Given the description of an element on the screen output the (x, y) to click on. 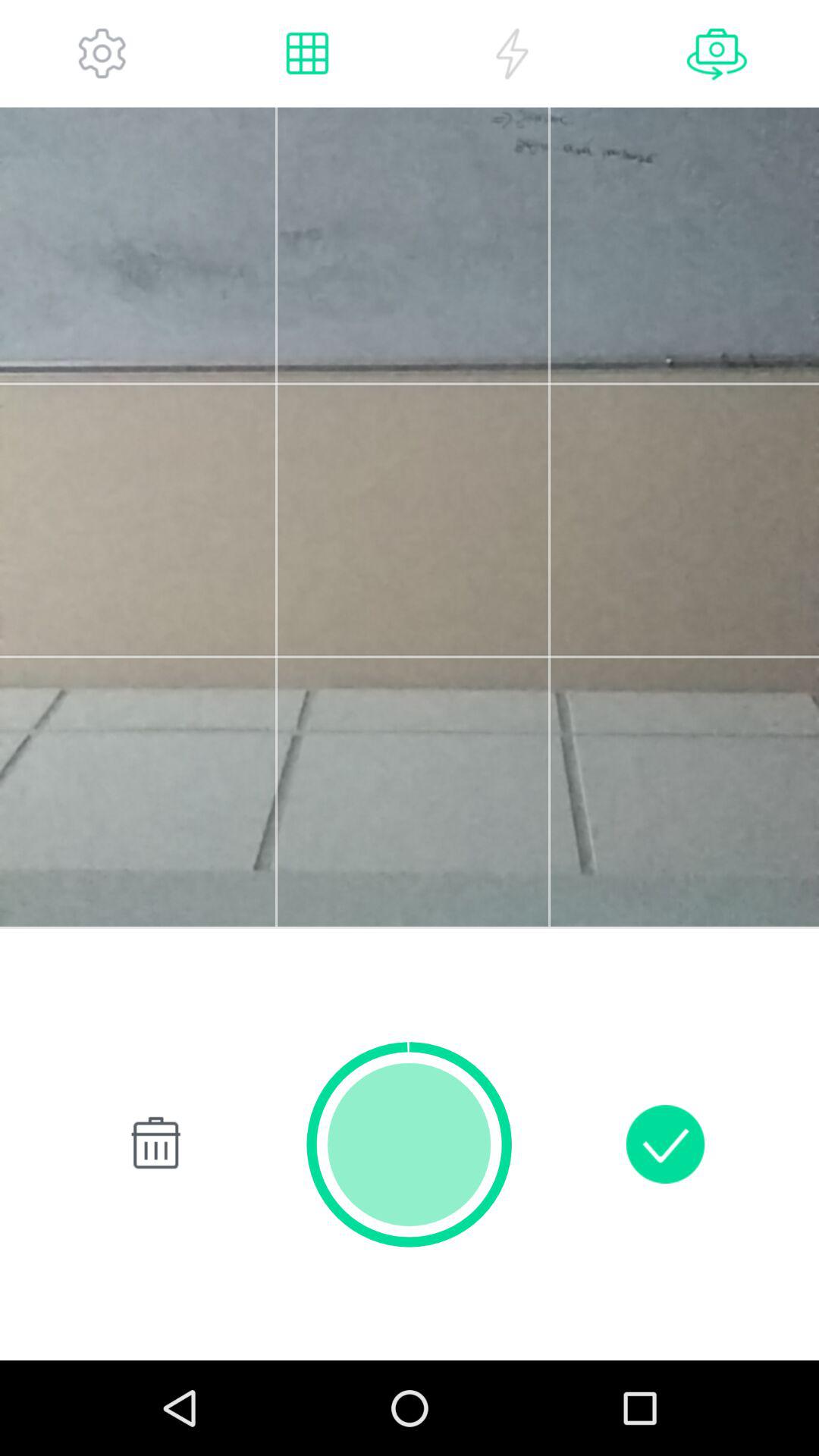
delete (152, 1144)
